Given the description of an element on the screen output the (x, y) to click on. 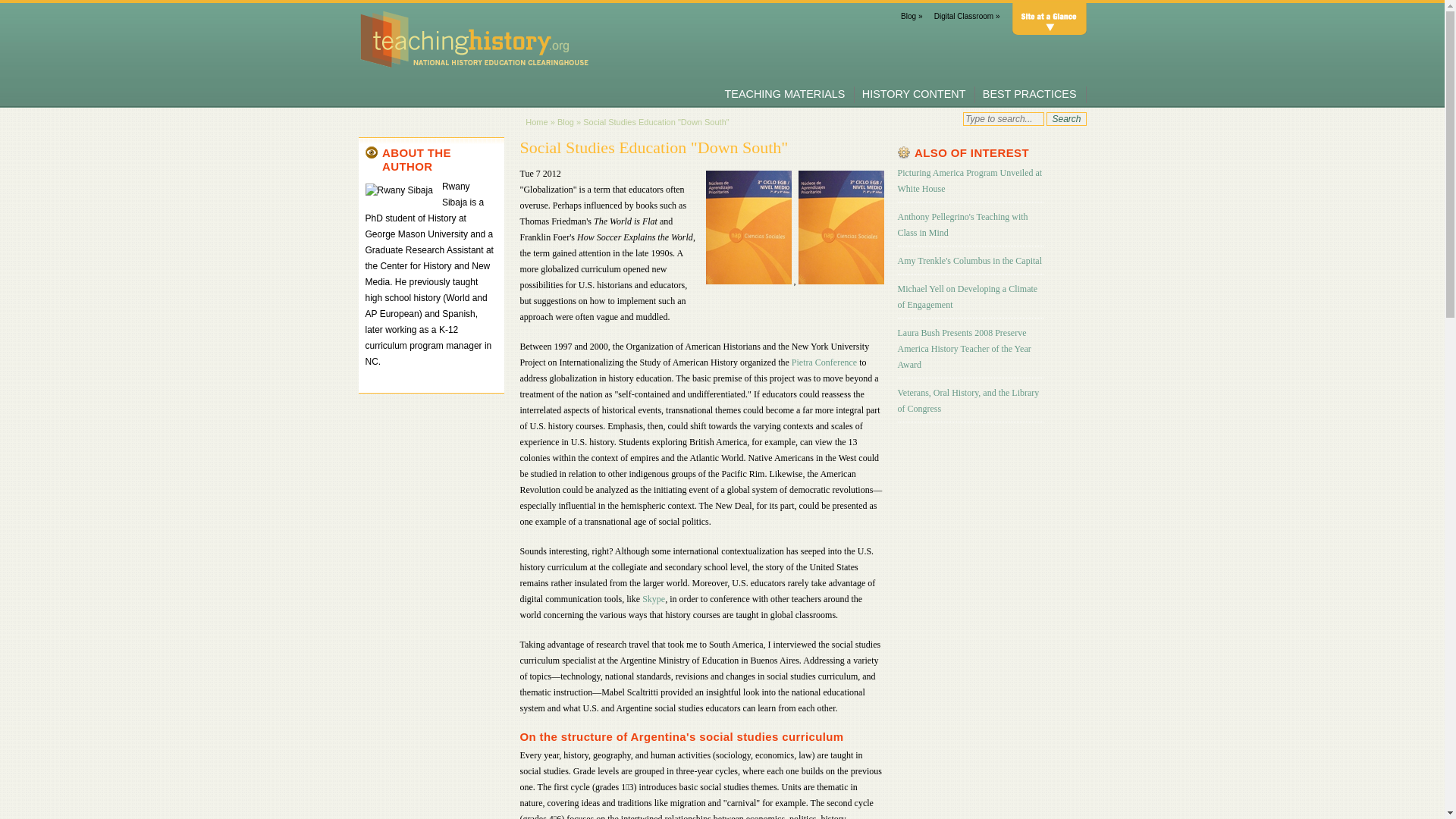
Join the Teachinghistory.org community (911, 17)
Blog (565, 121)
BEST PRACTICES (1029, 93)
Home (536, 121)
Search (1066, 119)
HISTORY CONTENT (913, 93)
Rwany Sibaja (398, 190)
Enter the terms you wish to search for. (1002, 119)
TEACHING MATERIALS (785, 93)
Search (1066, 119)
